Given the description of an element on the screen output the (x, y) to click on. 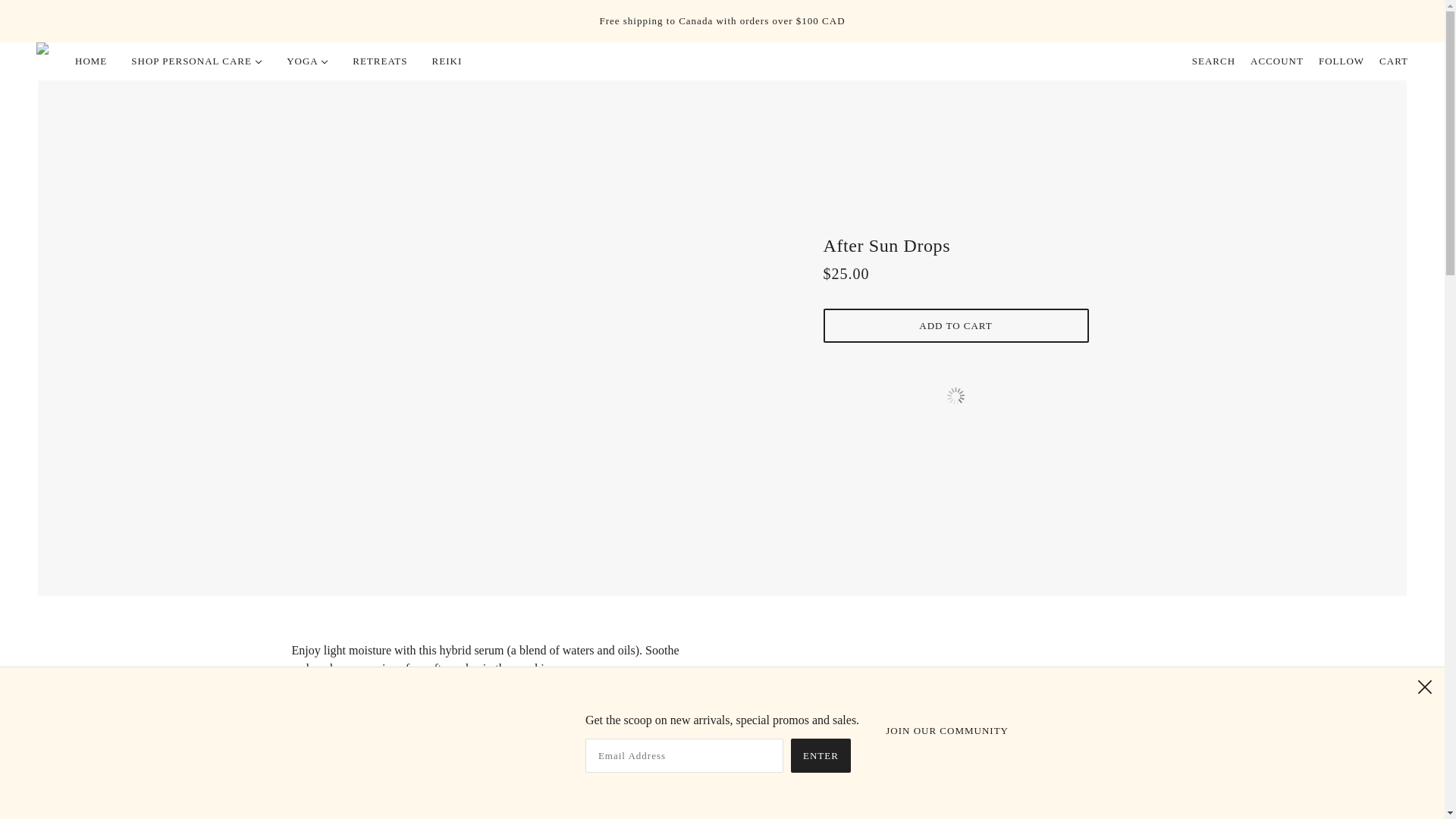
ACCOUNT (1277, 61)
After Sun Drops (956, 251)
YOGA (307, 61)
CART (1393, 61)
ADD TO CART (956, 325)
SEARCH (1214, 61)
RETREATS (379, 61)
SHOP PERSONAL CARE (197, 61)
REIKI (447, 61)
HOME (90, 61)
